Given the description of an element on the screen output the (x, y) to click on. 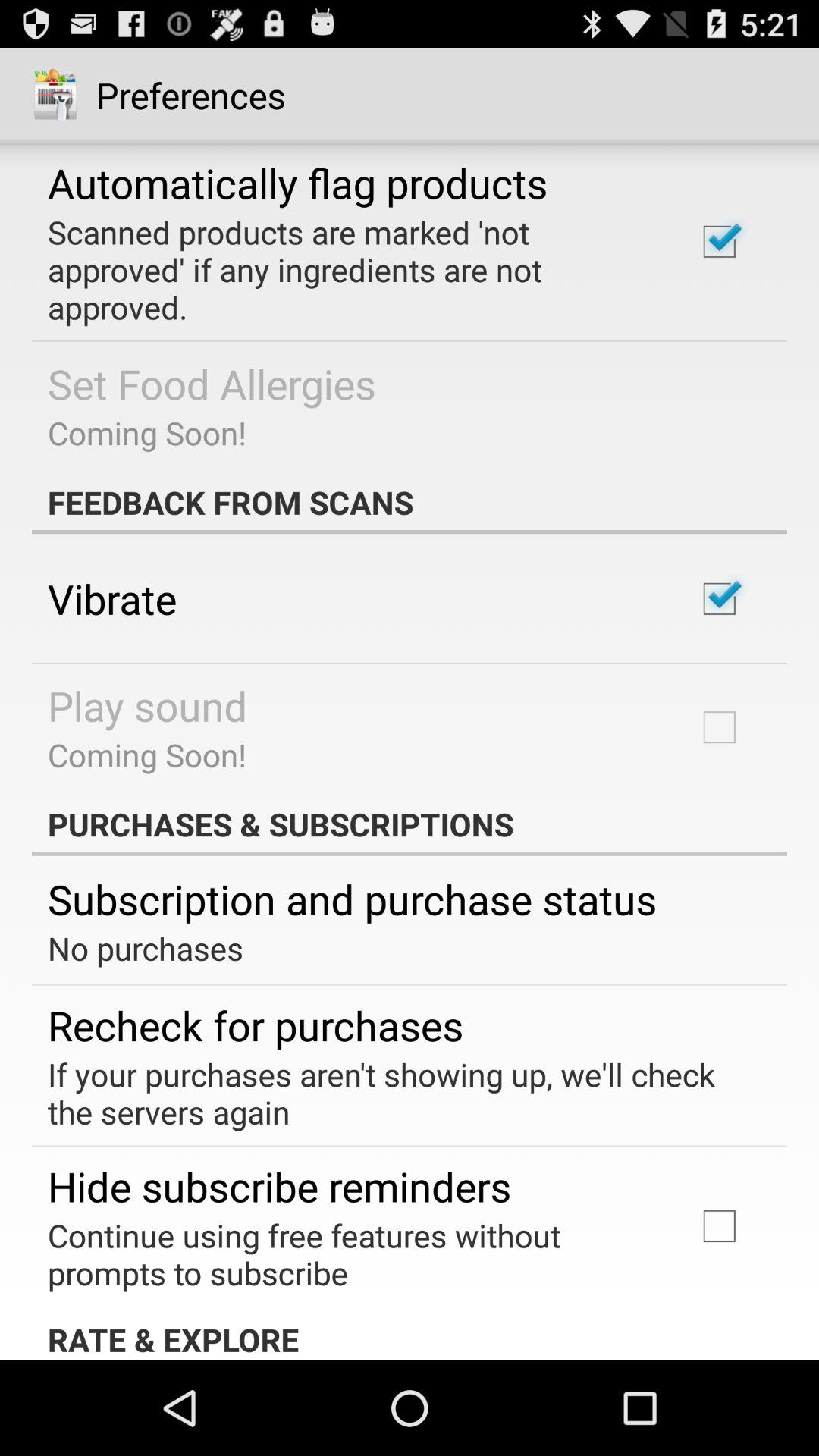
turn on the icon above the coming soon! icon (211, 383)
